Given the description of an element on the screen output the (x, y) to click on. 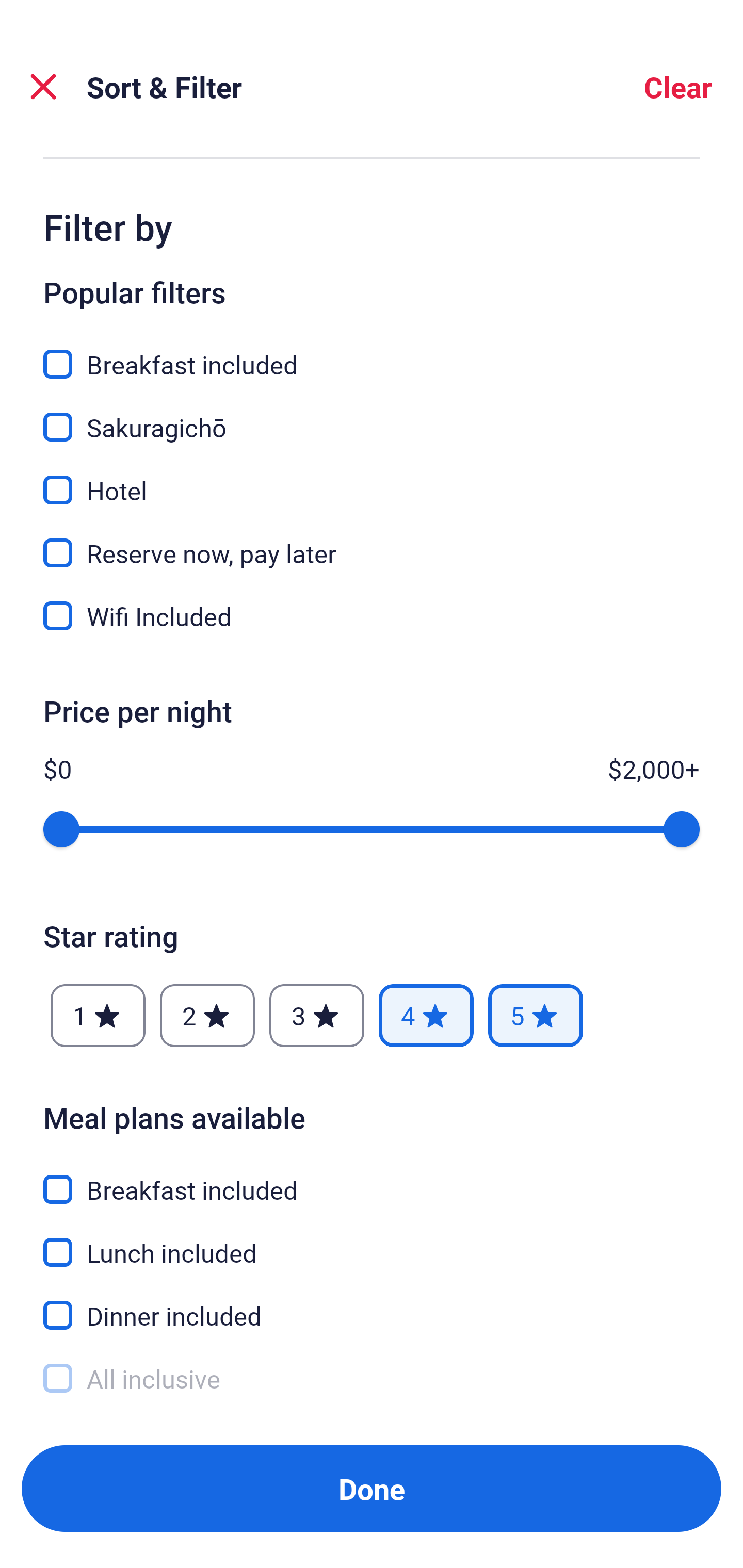
Close Sort and Filter (43, 86)
Clear (677, 86)
Breakfast included, Breakfast included (371, 352)
Sakuragichō, Sakuragichō (371, 415)
Hotel, Hotel (371, 477)
Reserve now, pay later, Reserve now, pay later (371, 540)
Wifi Included, Wifi Included (371, 616)
1 (97, 1015)
2 (206, 1015)
3 (316, 1015)
4 (426, 1015)
5 (535, 1015)
Breakfast included, Breakfast included (371, 1177)
Lunch included, Lunch included (371, 1240)
Dinner included, Dinner included (371, 1304)
All inclusive, All inclusive (371, 1378)
Apply and close Sort and Filter Done (371, 1488)
